Given the description of an element on the screen output the (x, y) to click on. 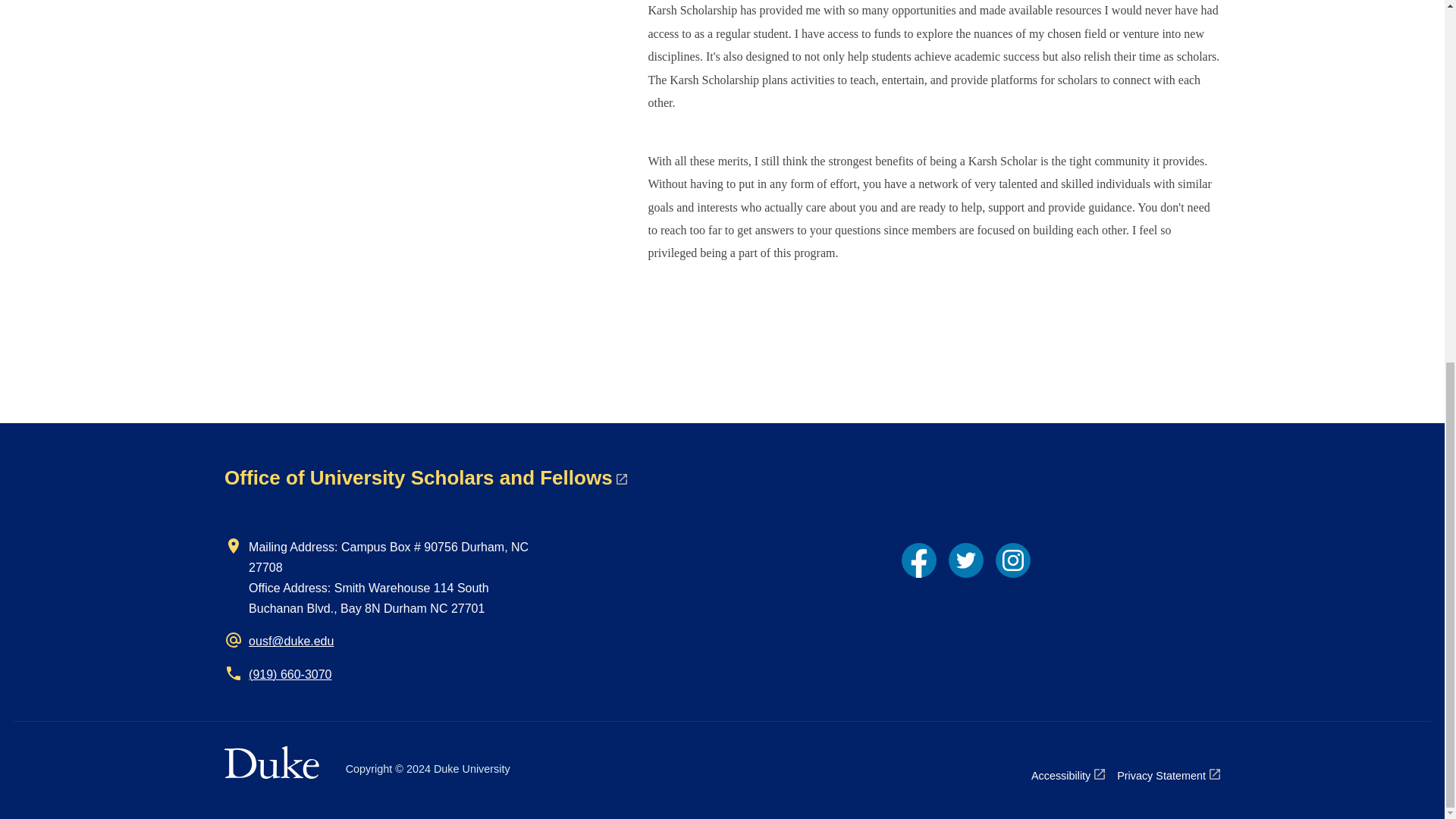
Facebook link (918, 560)
Privacy Statement (1168, 775)
Office of University Scholars and Fellows (425, 477)
Accessibility (1067, 775)
Twitter link (966, 560)
Instagram link (1012, 560)
